Given the description of an element on the screen output the (x, y) to click on. 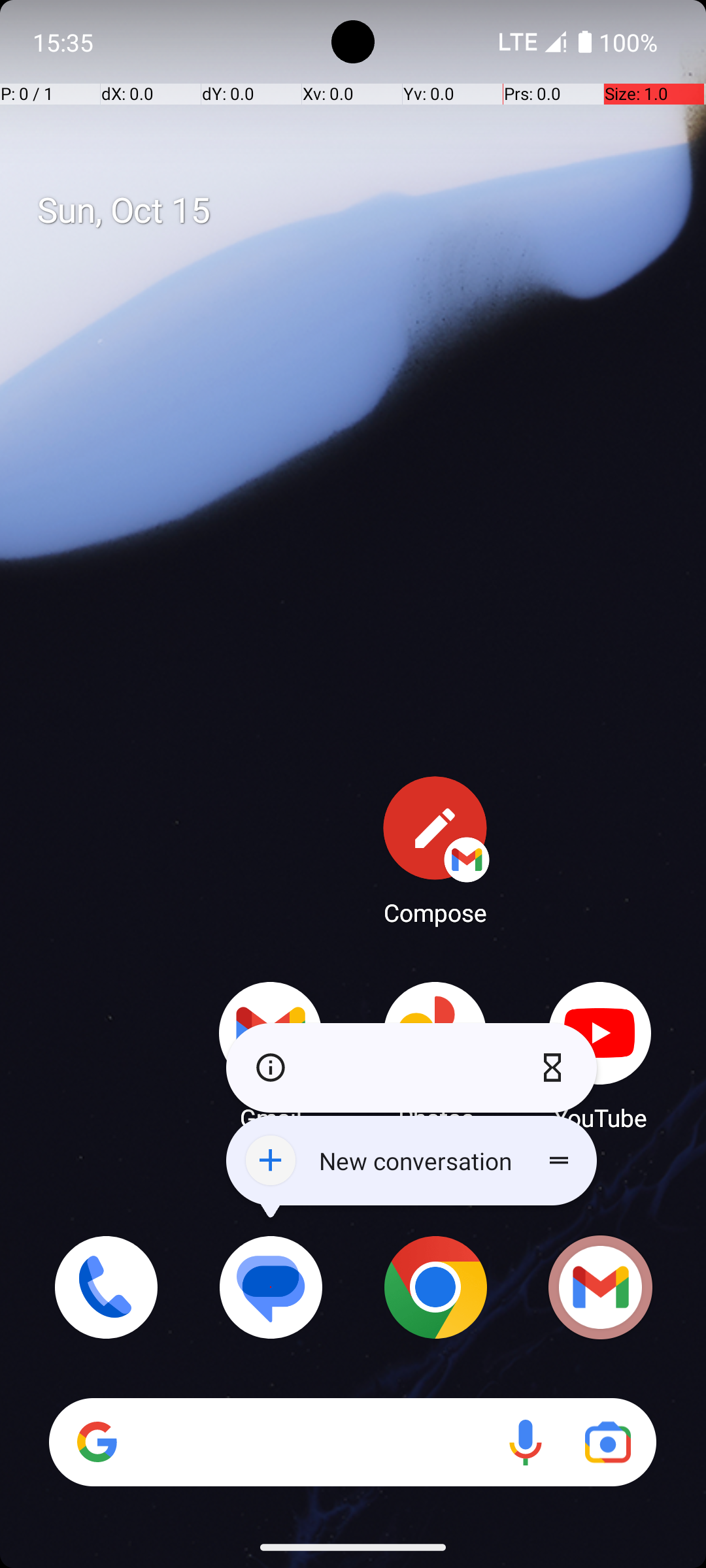
Pause app Element type: android.widget.ImageView (555, 1067)
